Given the description of an element on the screen output the (x, y) to click on. 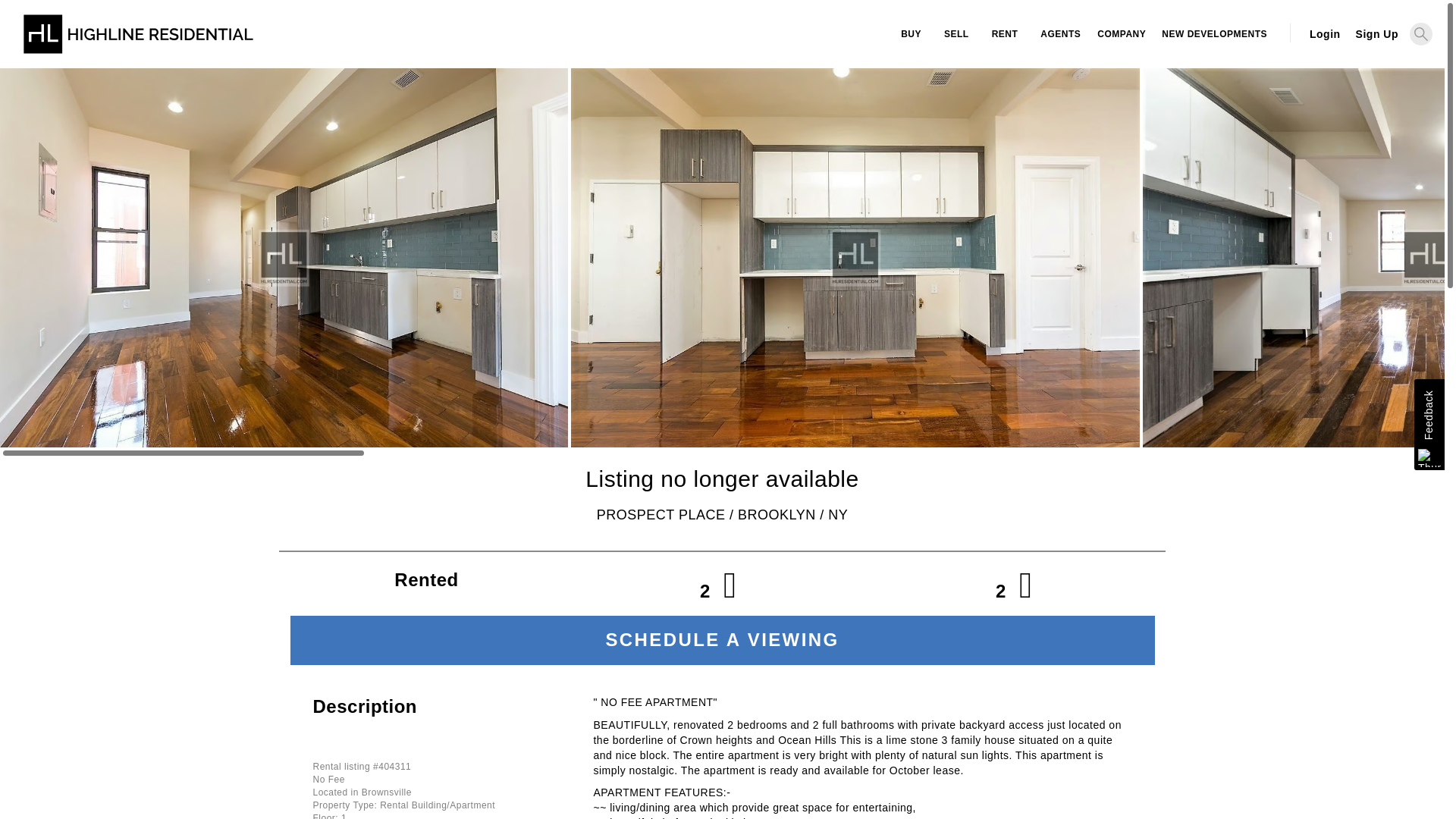
Sign Up (1372, 33)
COMPANY (1119, 33)
Highline Residential - New Developments (1214, 33)
About Highline Residential (1119, 33)
Listings to Buy (911, 33)
Logo Highline Residential real estate (137, 41)
SELL (956, 33)
Listings for Rent (1004, 33)
Login to Highline Residential (1324, 33)
Register to Highline Residential (1372, 33)
Login (1324, 33)
NEW DEVELOPMENTS (1214, 33)
AGENTS (1059, 33)
Listings for Sell (956, 33)
BUY (911, 33)
